Given the description of an element on the screen output the (x, y) to click on. 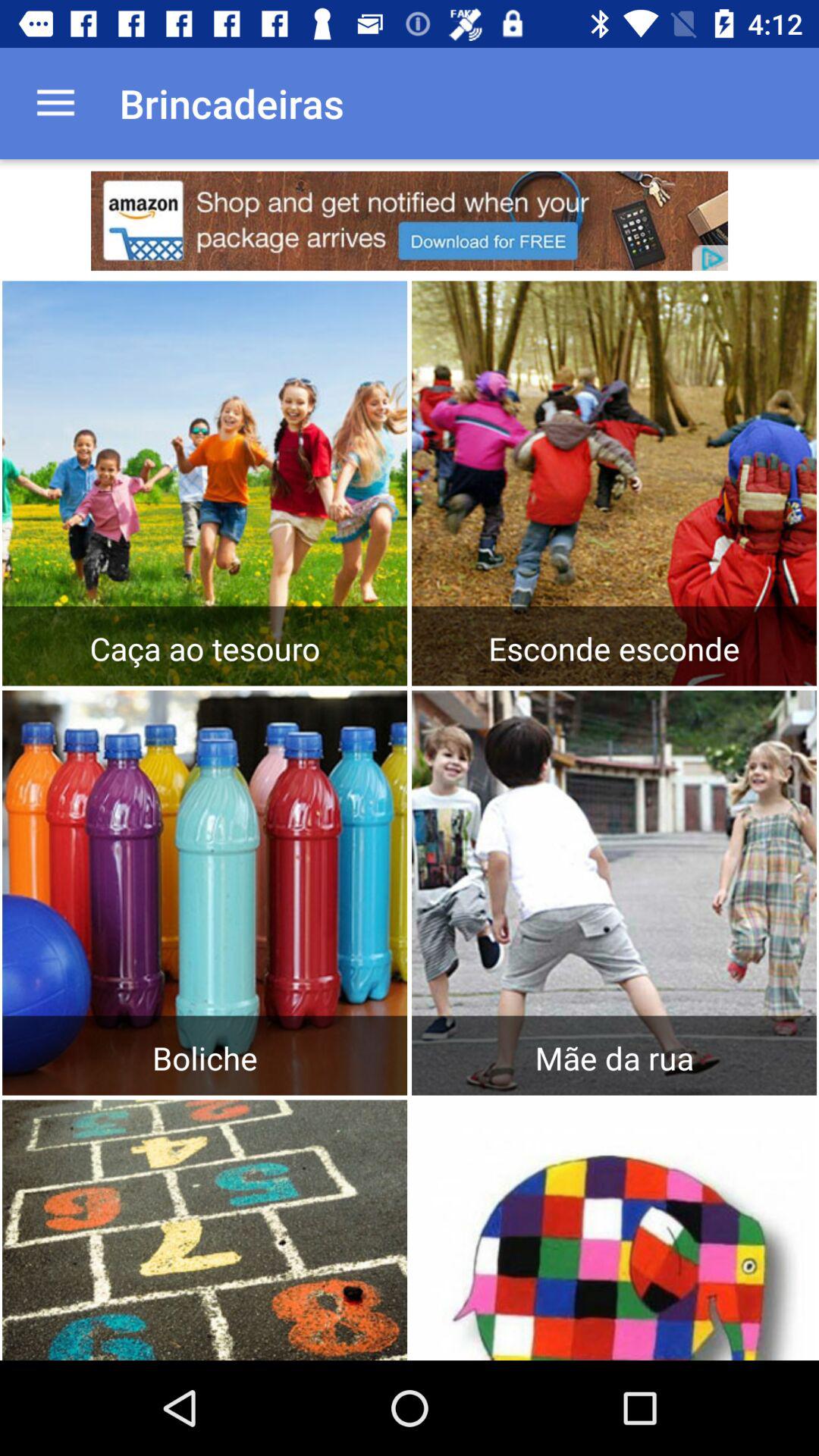
advertisement link to different site (409, 220)
